Given the description of an element on the screen output the (x, y) to click on. 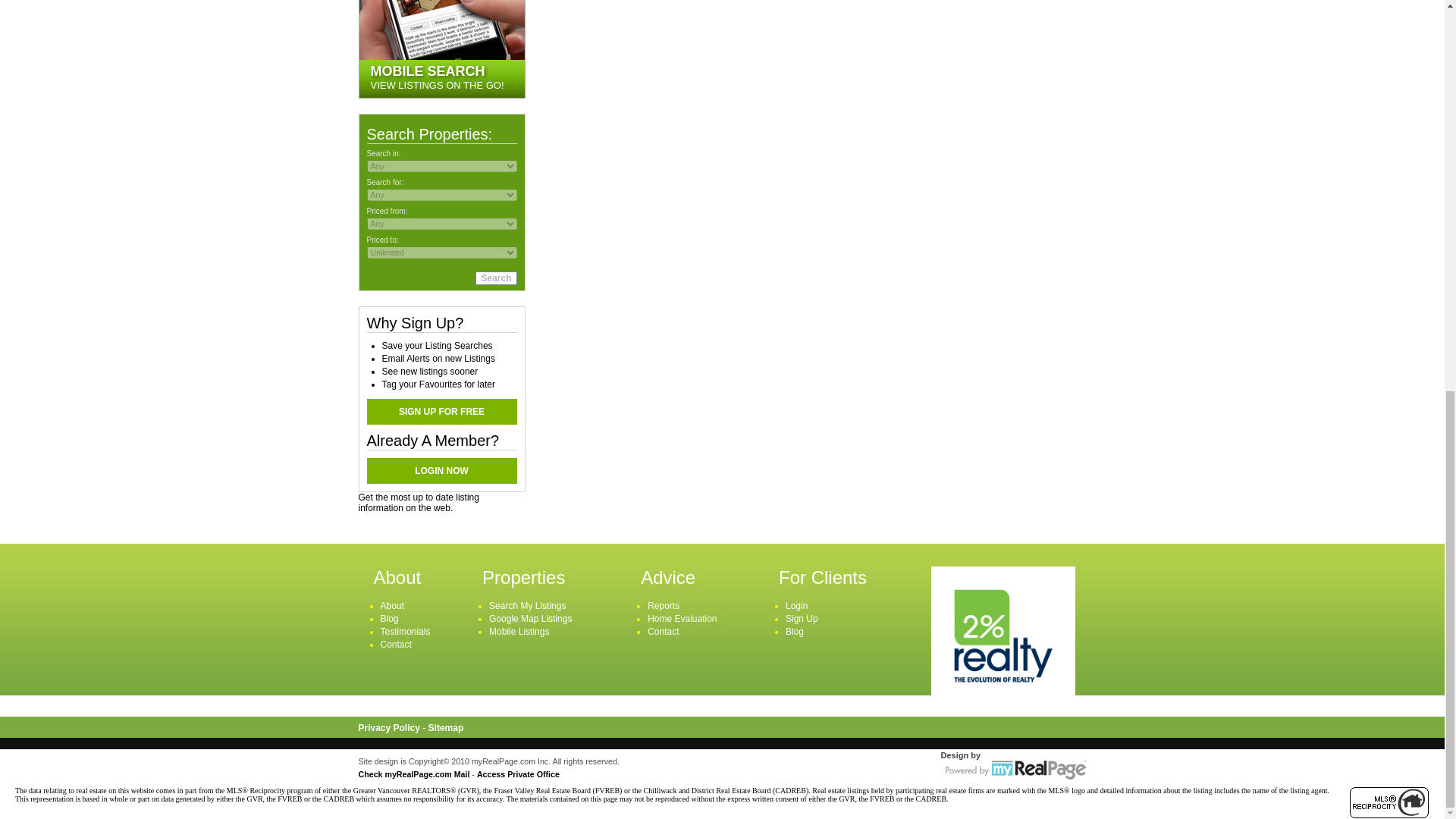
LOGIN NOW (441, 470)
Search (496, 278)
Search (496, 278)
SIGN UP FOR FREE (441, 411)
